Given the description of an element on the screen output the (x, y) to click on. 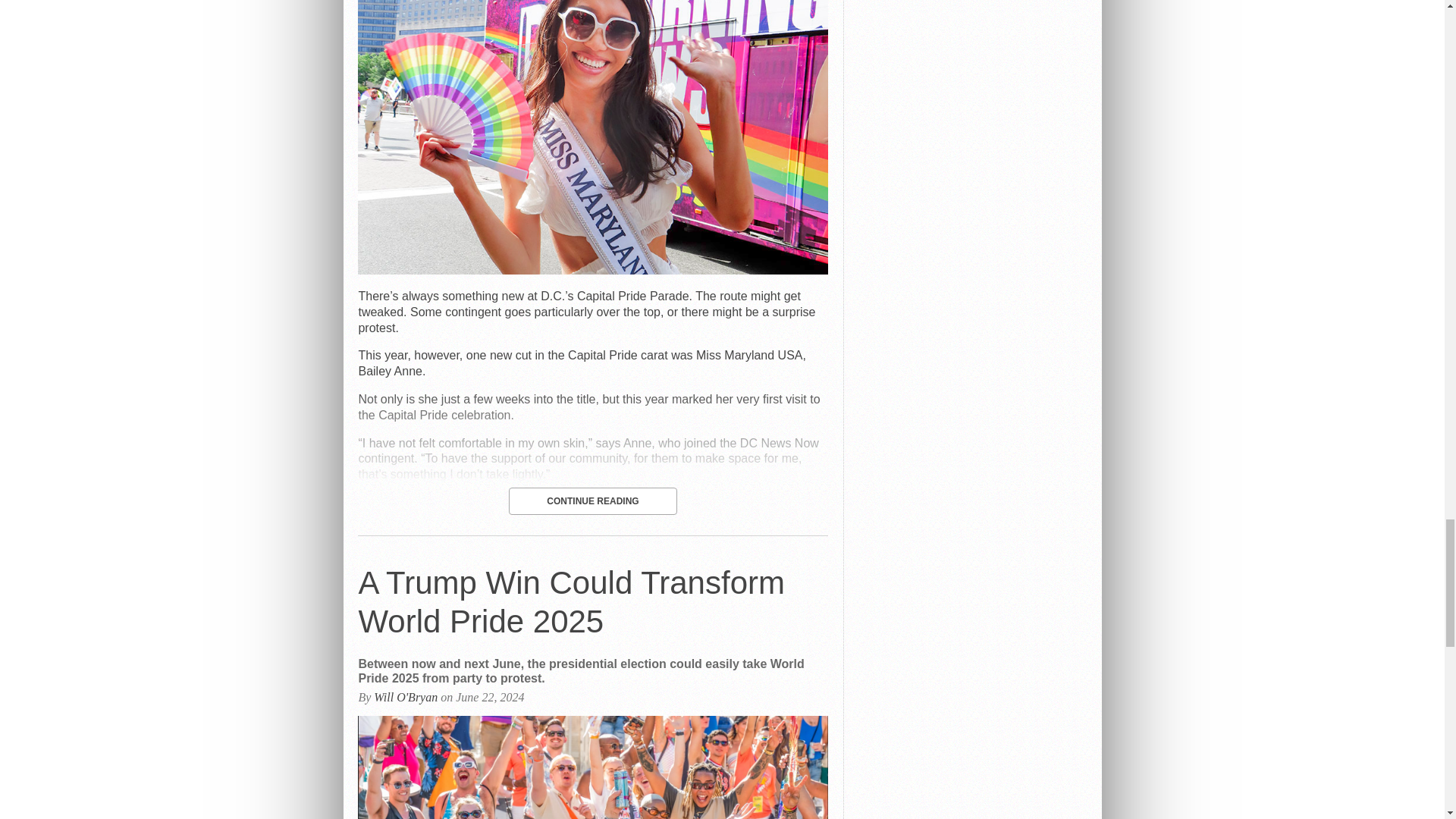
Posts by Will O'Bryan (406, 697)
